Given the description of an element on the screen output the (x, y) to click on. 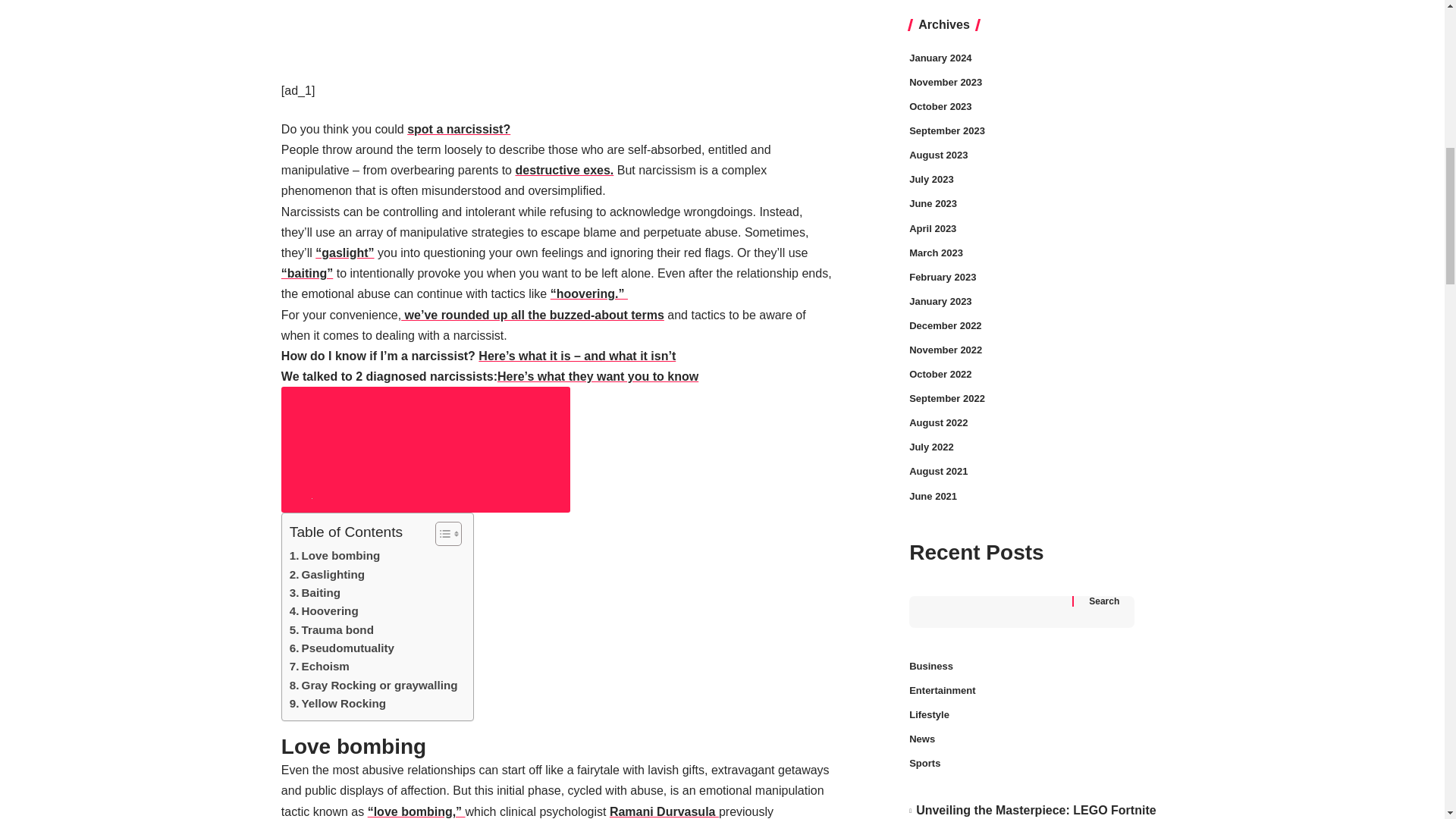
Trauma bond (331, 629)
Love bombing (334, 556)
Gaslighting (327, 574)
Baiting (314, 592)
Hoovering (323, 610)
Pseudomutuality (341, 648)
Echoism (319, 666)
